Given the description of an element on the screen output the (x, y) to click on. 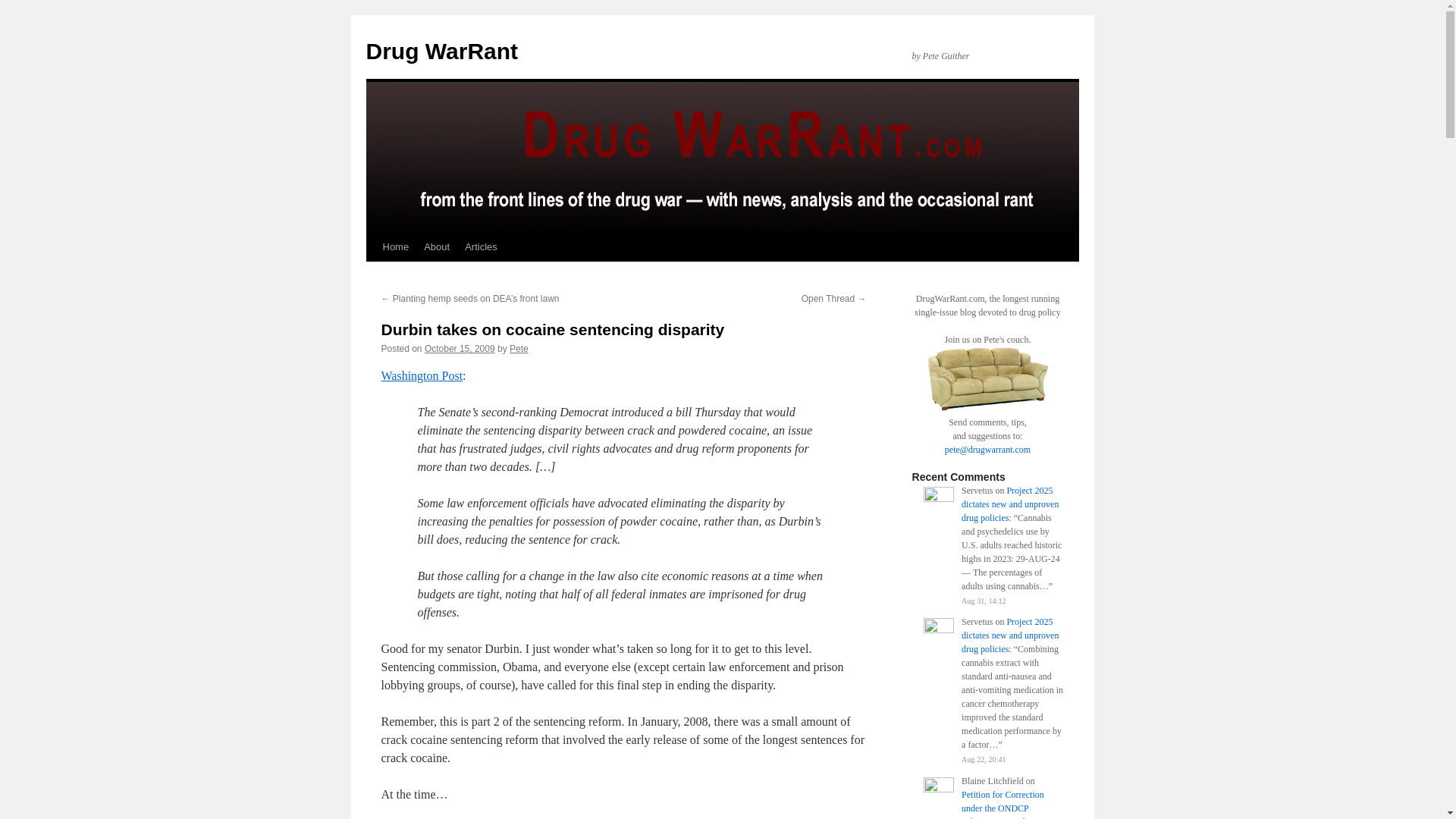
9:45 pm (460, 348)
View all posts by Pete (518, 348)
Drug WarRant (441, 50)
October 15, 2009 (460, 348)
Pete (518, 348)
Washington Post (421, 375)
About (436, 246)
Home (395, 246)
Articles (481, 246)
